Given the description of an element on the screen output the (x, y) to click on. 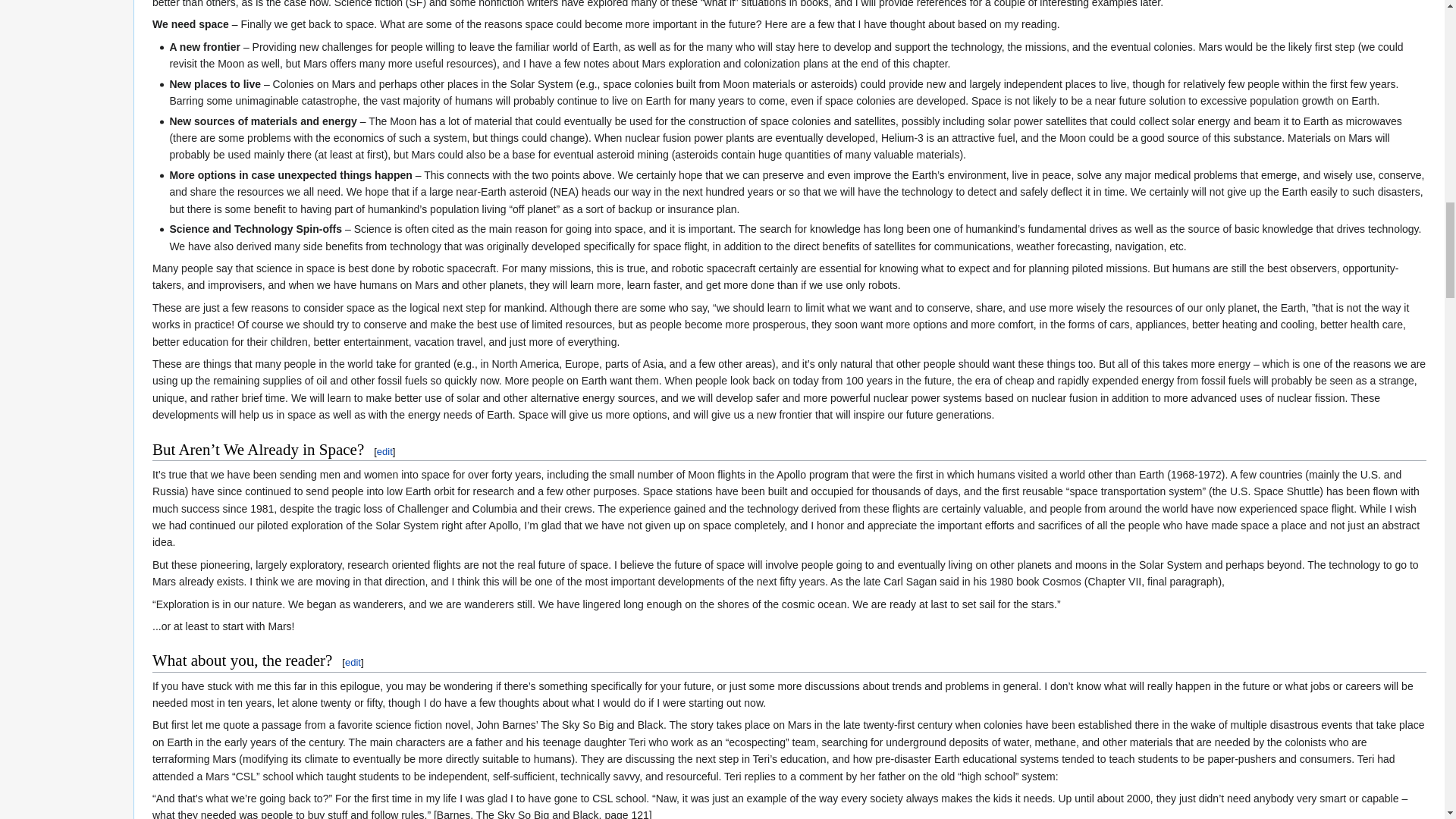
edit (385, 451)
Edit section: What about you, the reader? (353, 662)
edit (353, 662)
